Given the description of an element on the screen output the (x, y) to click on. 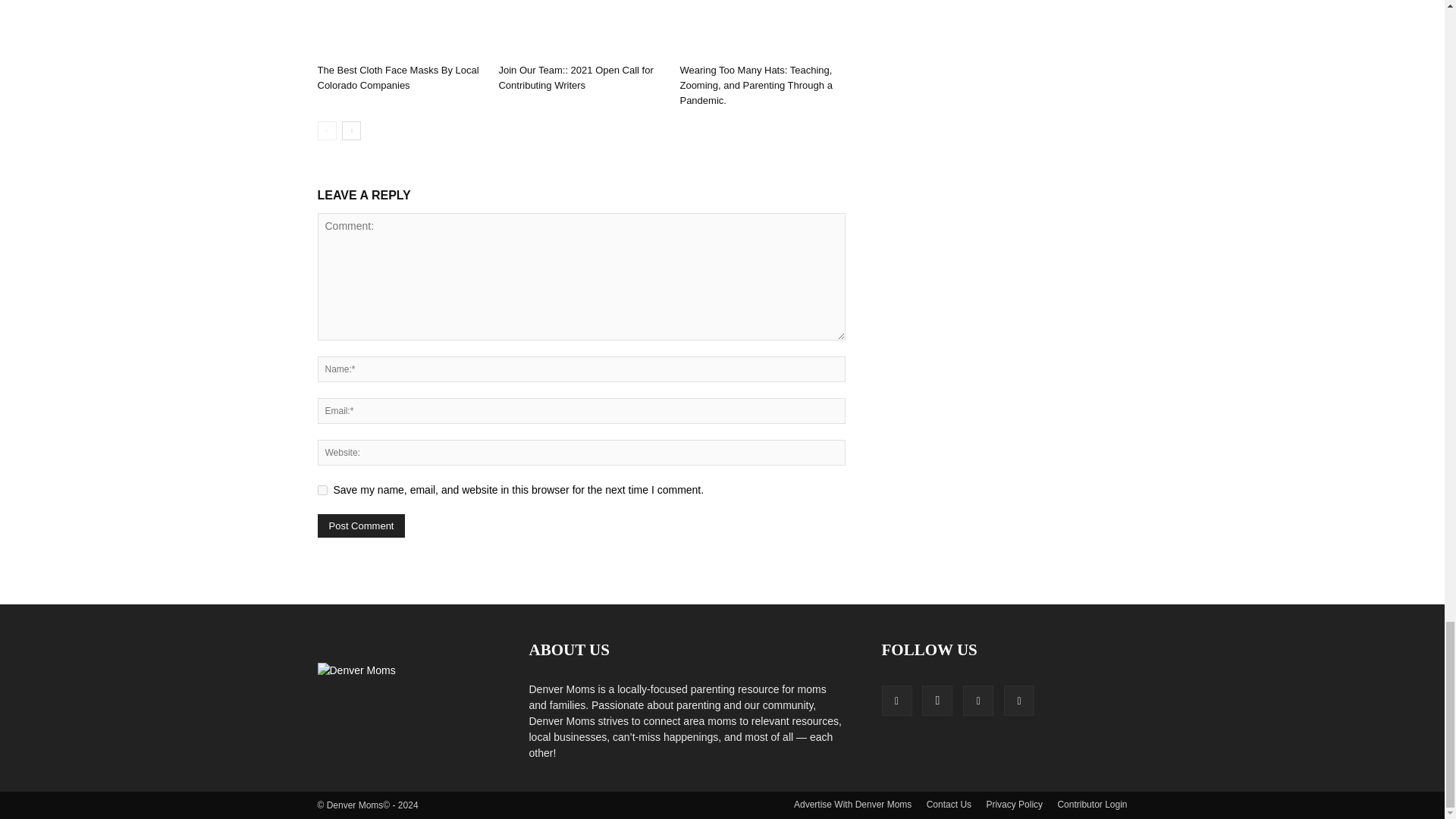
Post Comment (360, 525)
yes (321, 490)
